Given the description of an element on the screen output the (x, y) to click on. 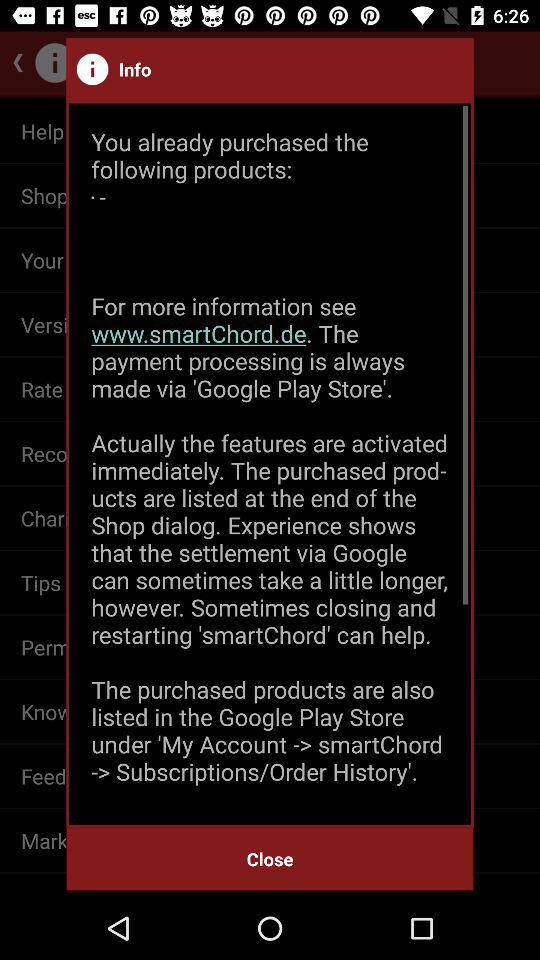
select the close (269, 858)
